Given the description of an element on the screen output the (x, y) to click on. 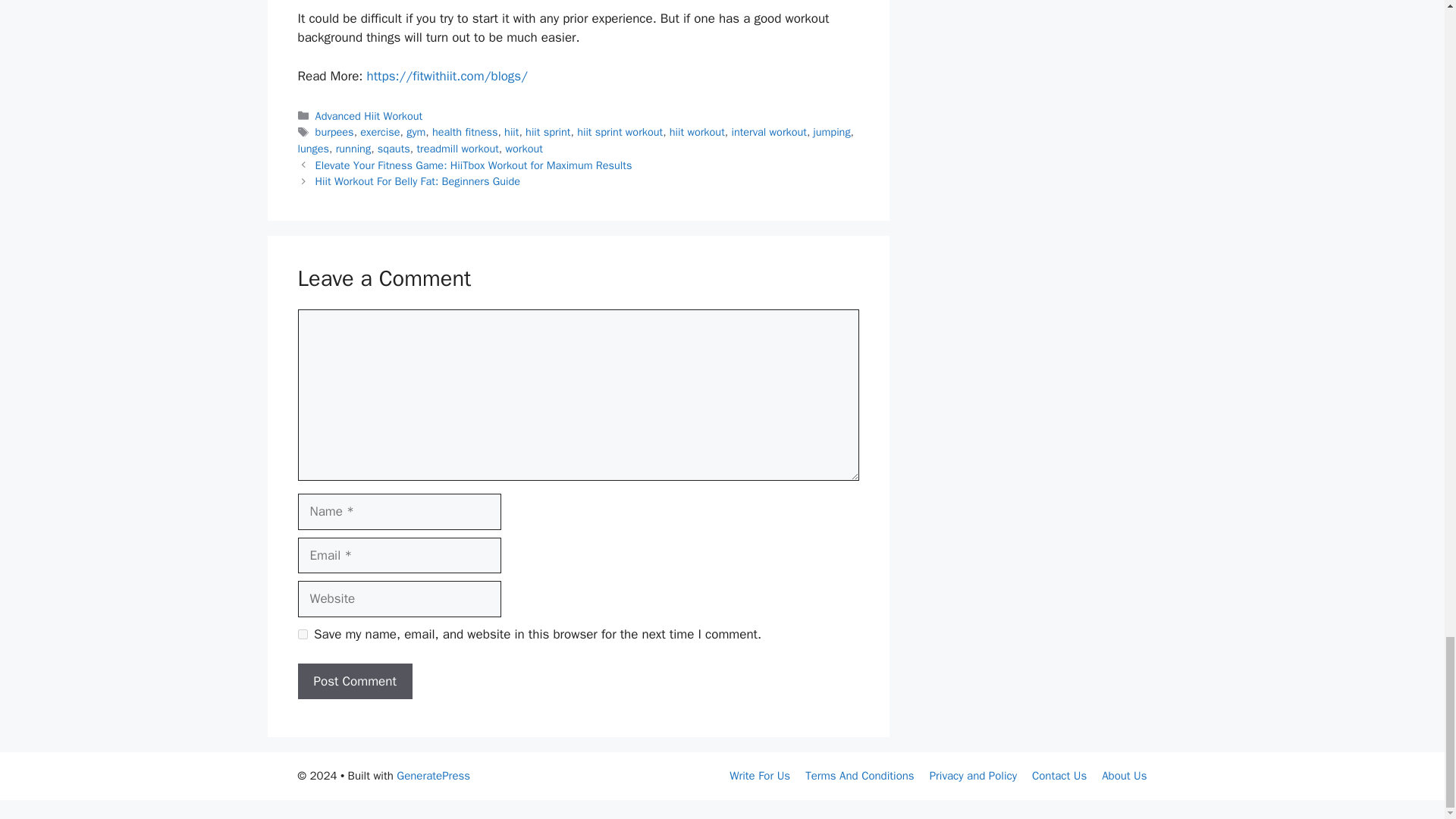
jumping (831, 131)
Write For Us (759, 775)
yes (302, 634)
hiit (510, 131)
Post Comment (354, 681)
hiit workout (697, 131)
Post Comment (354, 681)
Advanced Hiit Workout (369, 115)
Terms And Conditions (859, 775)
